Given the description of an element on the screen output the (x, y) to click on. 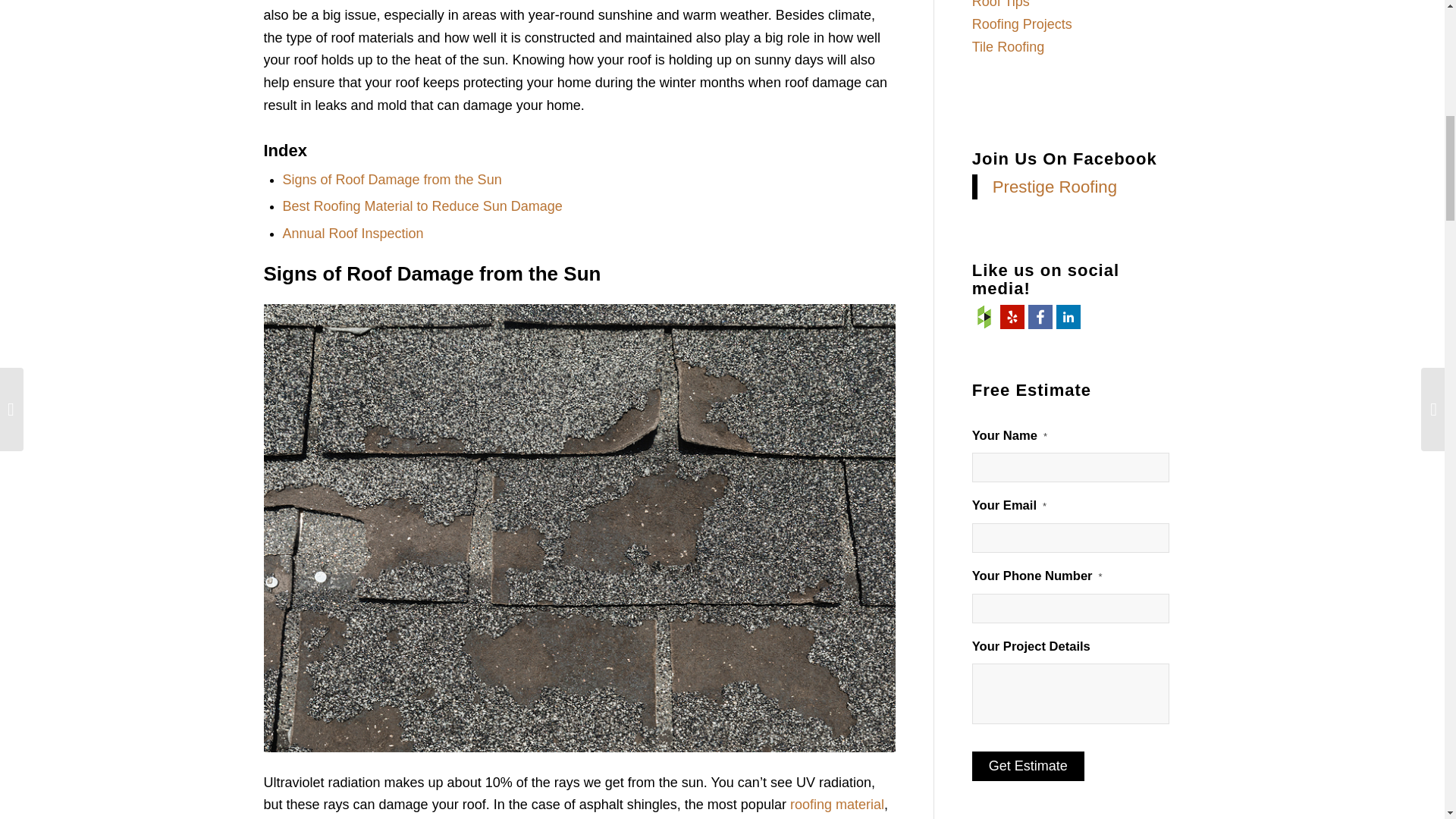
Get Estimate (1028, 766)
